Given the description of an element on the screen output the (x, y) to click on. 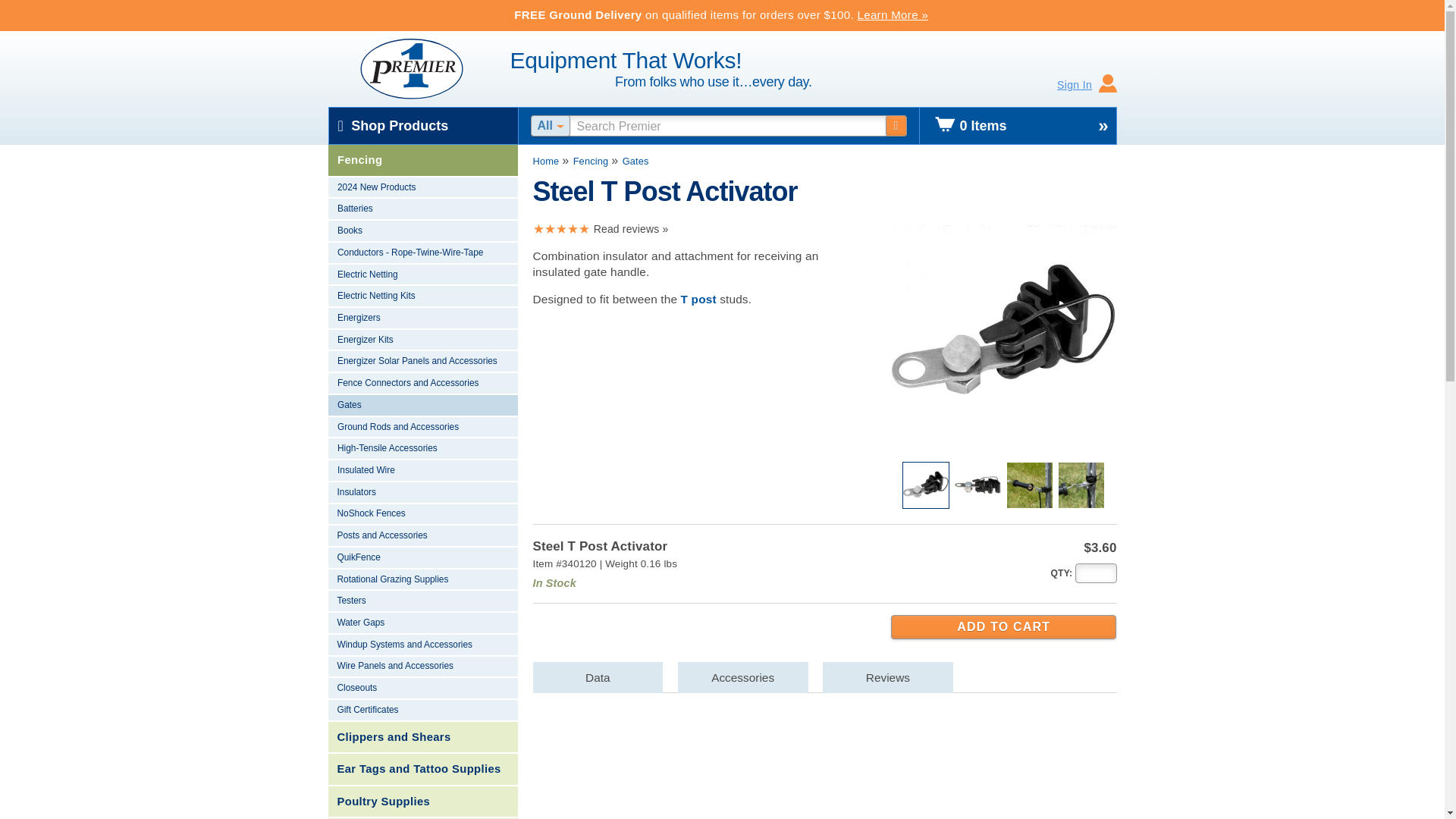
Posts and Accessories (421, 536)
quantity (1059, 573)
Shop Products (423, 125)
Electric Netting (421, 275)
Ground Rods and Accessories (421, 427)
Water Gaps (421, 623)
Insulators (421, 493)
NoShock Fences (421, 515)
Insulated Wire (421, 471)
Sign In (1086, 85)
